Given the description of an element on the screen output the (x, y) to click on. 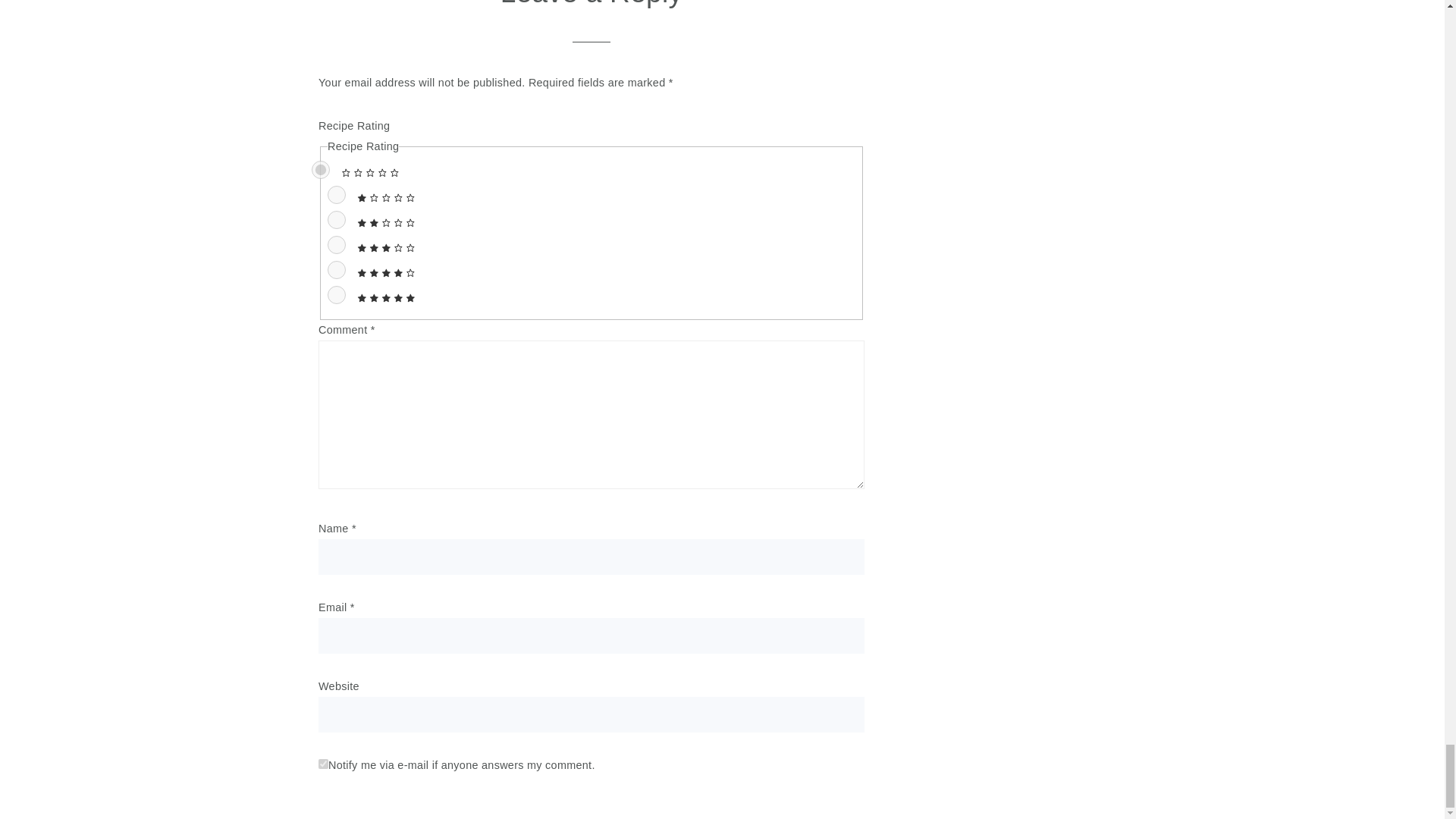
1 (336, 194)
2 (336, 219)
on (323, 764)
0 (320, 169)
4 (336, 270)
5 (336, 294)
3 (336, 244)
